Given the description of an element on the screen output the (x, y) to click on. 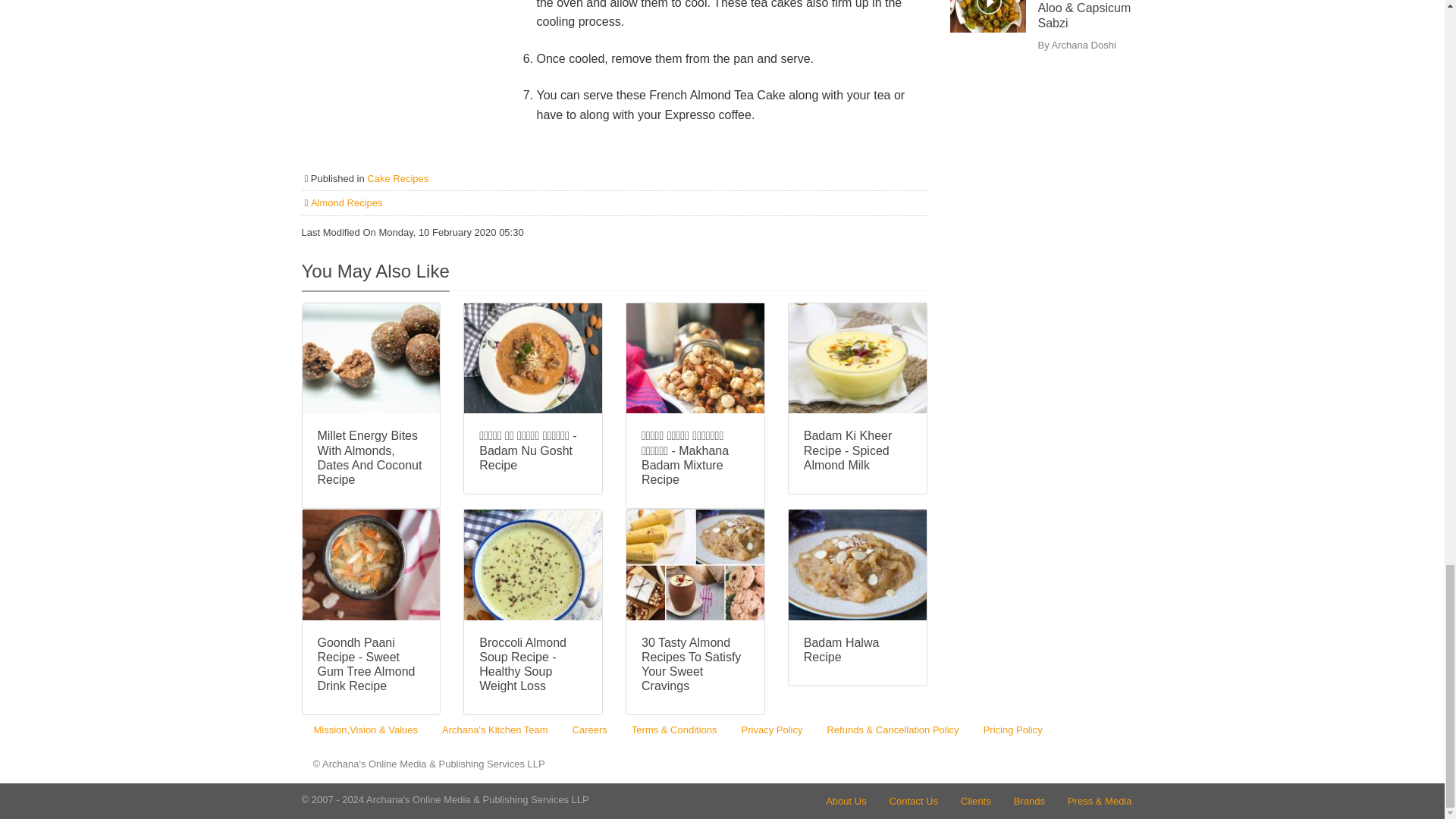
Cake Recipes (397, 178)
View more recipes in Cake Recipes (397, 178)
Millet Energy Bites With Almonds, Dates And Coconut Recipe (371, 457)
Goondh Paani Recipe - Sweet Gum Tree Almond Drink Recipe (371, 664)
Badam Halwa Recipe (857, 649)
Almond Recipes (346, 202)
Broccoli Almond Soup Recipe - Healthy Soup Weight Loss (532, 664)
Badam Ki Kheer Recipe - Spiced Almond Milk (857, 450)
30 Tasty Almond Recipes To Satisfy Your Sweet Cravings (695, 664)
